Given the description of an element on the screen output the (x, y) to click on. 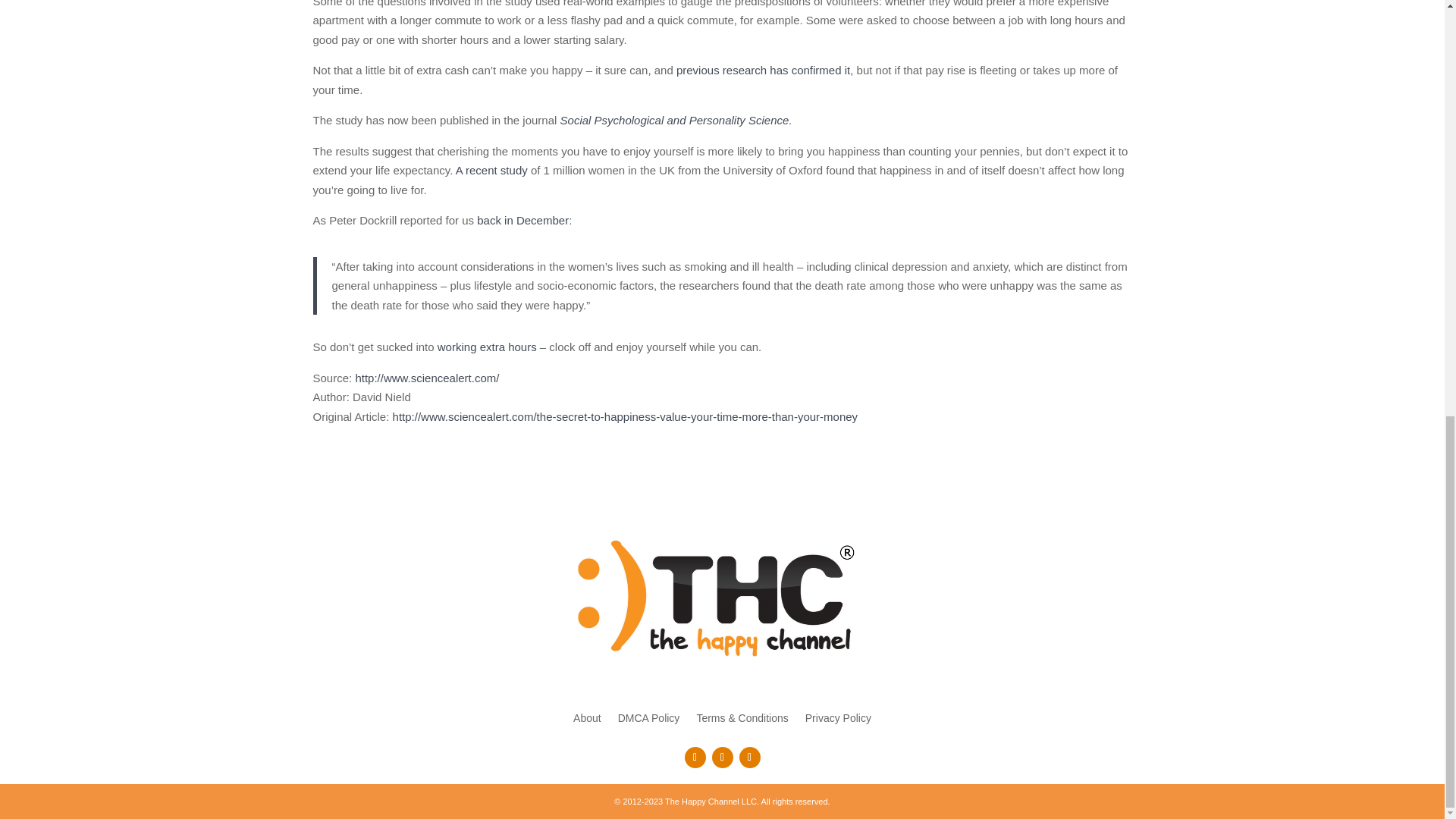
Follow on Facebook (694, 757)
A recent study (491, 169)
working extra hours (487, 346)
Follow on Instagram (721, 757)
previous research has confirmed it (763, 69)
DMCA Policy (648, 717)
Follow on Pinterest (749, 757)
back in December (523, 219)
Social Psychological and Personality Science (674, 119)
